Given the description of an element on the screen output the (x, y) to click on. 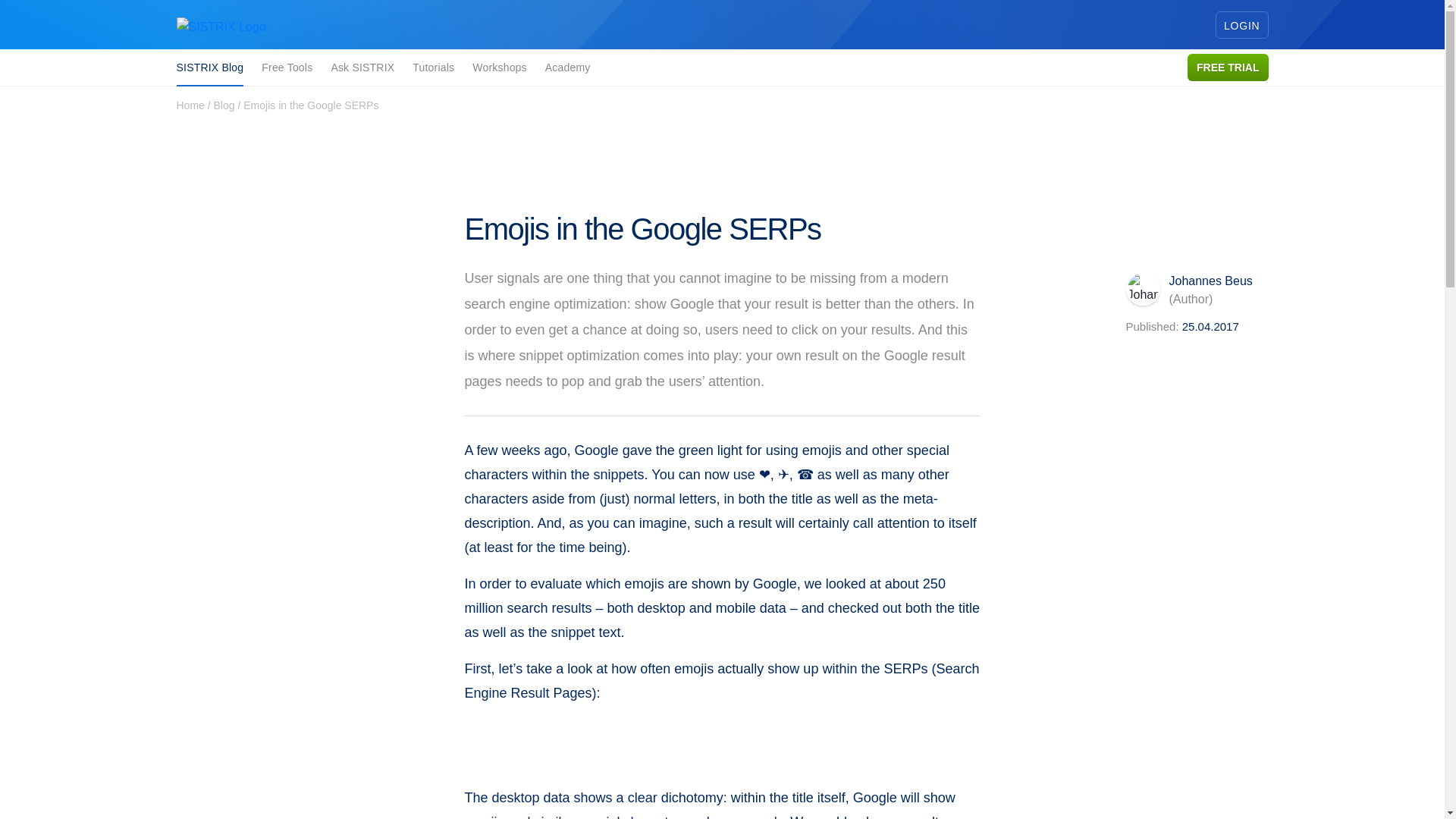
FREE TRIAL (1228, 67)
Free Tools (287, 67)
LOGIN (1241, 23)
Ask SISTRIX (362, 67)
SISTRIX Blog (209, 68)
Academy (567, 67)
Home (189, 105)
Tutorials (433, 67)
Blog (224, 105)
Workshops (499, 67)
